Given the description of an element on the screen output the (x, y) to click on. 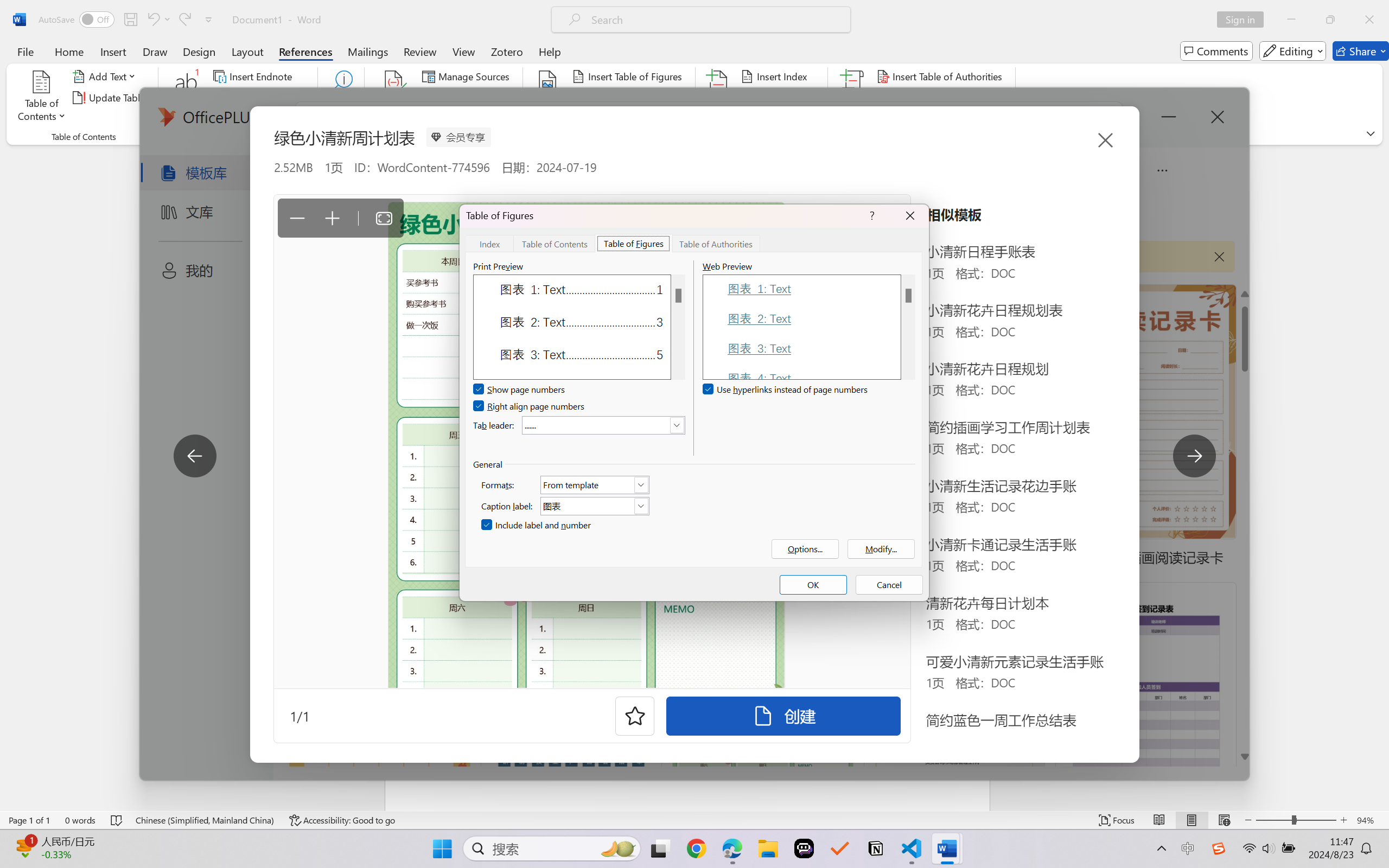
Next Footnote (260, 97)
Next Footnote (253, 97)
Right align page numbers (529, 406)
Print Preview (677, 327)
Formats: (595, 484)
Manage Sources... (467, 75)
